Given the description of an element on the screen output the (x, y) to click on. 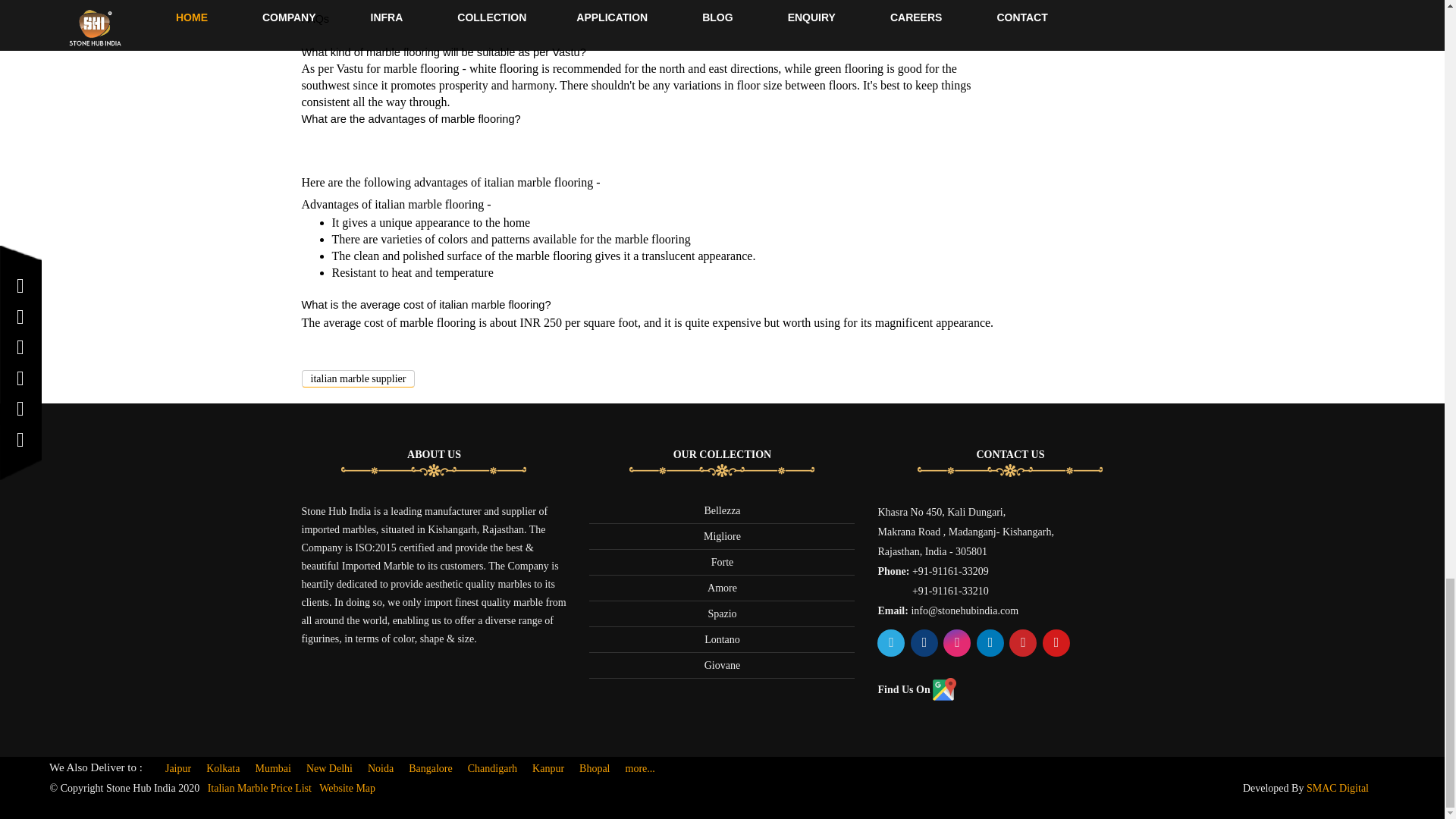
Bellezza (721, 510)
Forte (722, 562)
Migliore (722, 536)
italian marble supplier (358, 378)
